Given the description of an element on the screen output the (x, y) to click on. 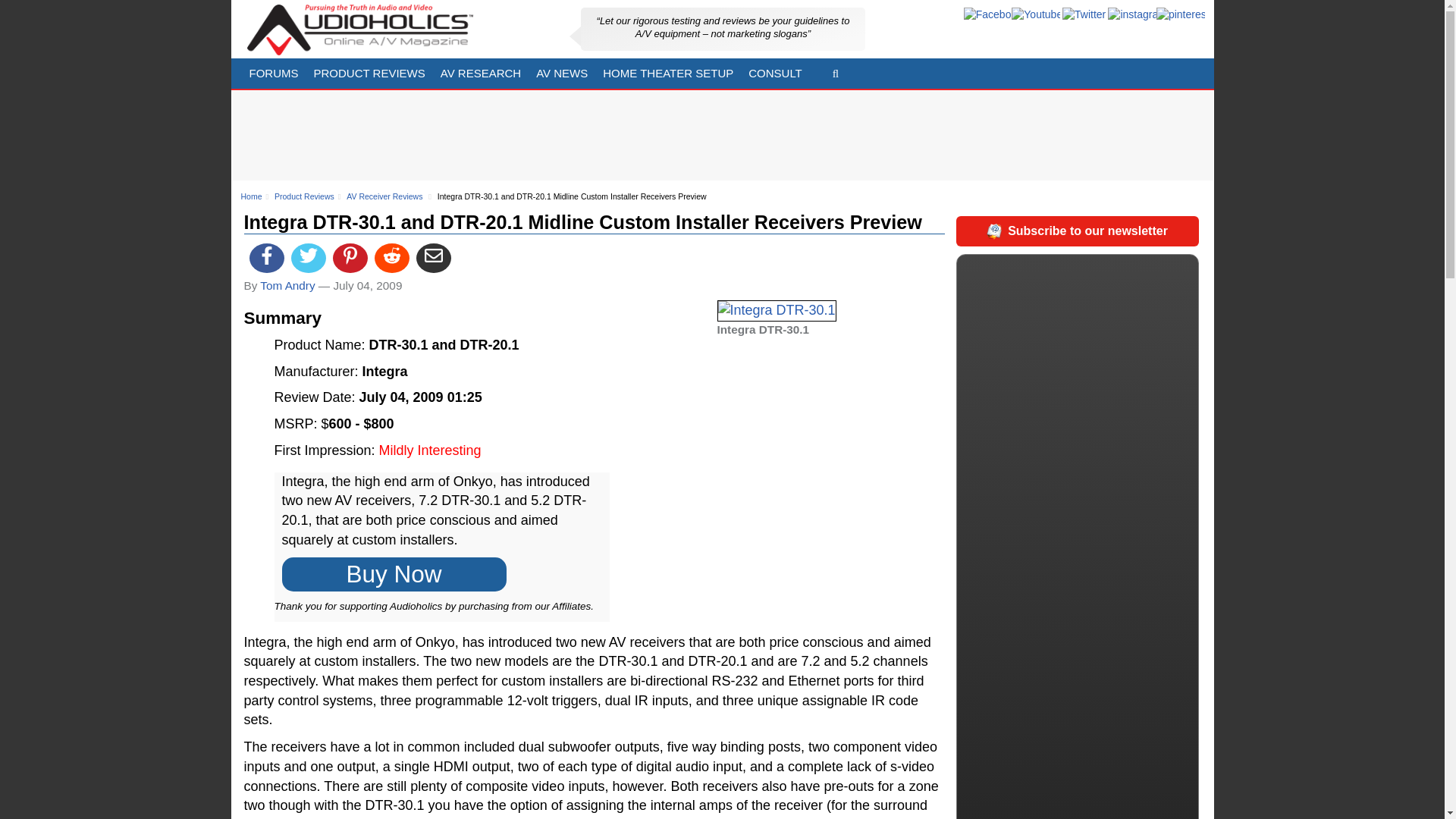
Audioholics Facebook (987, 14)
Audioholics Youtube (1035, 14)
FORUMS (273, 73)
2009-07-04  (367, 285)
pinterest (1180, 14)
email (433, 257)
PRODUCT REVIEWS (368, 73)
share on facebook (265, 257)
share on reddit (391, 257)
AV RESEARCH (480, 73)
Integra DTR-30.1 (776, 310)
July 04, 2009 01:25 (420, 396)
share on pinterest (350, 257)
share on twitter (308, 257)
Twitter (1083, 14)
